Given the description of an element on the screen output the (x, y) to click on. 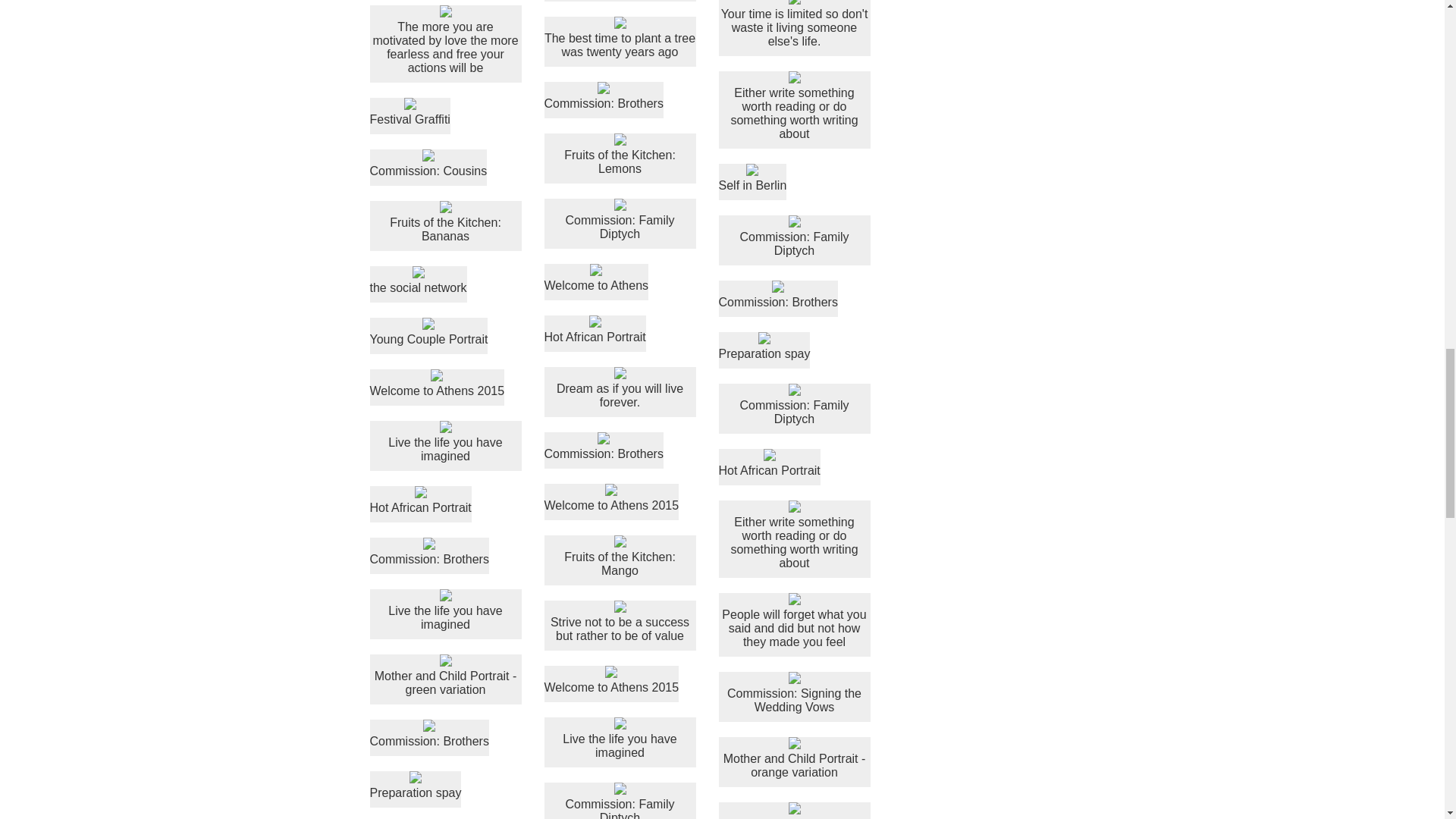
Mother and Child Portrait - green variation (445, 675)
Commission: Brothers (429, 733)
Commission: Cousins (428, 163)
Festival Graffiti (409, 111)
Welcome to Athens 2015 (437, 383)
Young Couple Portrait (428, 331)
Hot African Portrait (420, 500)
Live the life you have imagined (445, 609)
Fruits of the Kitchen: Bananas (445, 221)
Live the life you have imagined (445, 441)
Preparation spay (415, 785)
the social network (418, 280)
Commission: Brothers (429, 551)
